Given the description of an element on the screen output the (x, y) to click on. 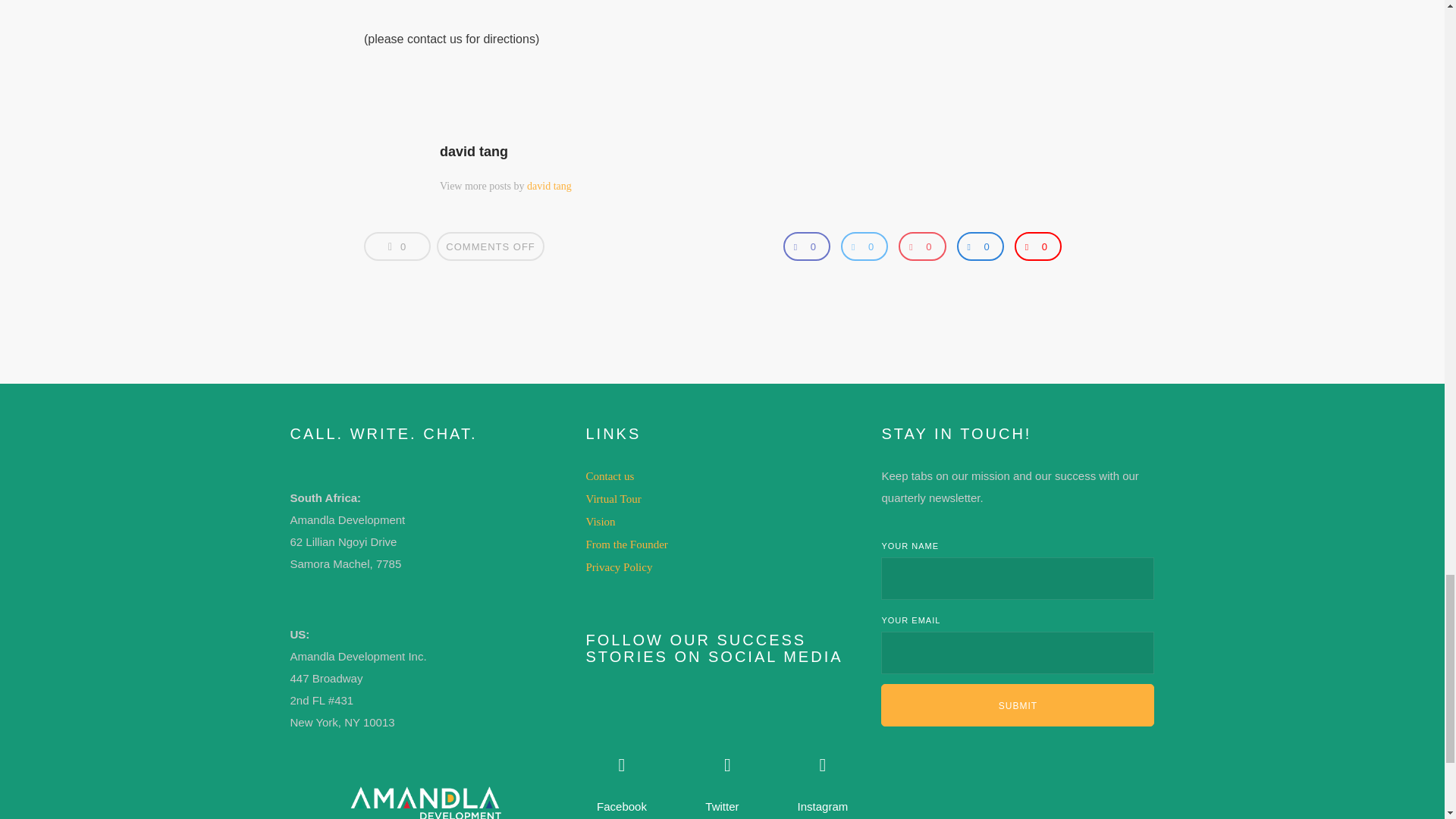
david tang (473, 151)
0 (864, 246)
Instagram (822, 750)
david tang (549, 185)
0 (806, 246)
Posts by david tang (473, 151)
Love this (397, 246)
Posts by david tang (549, 185)
0 (980, 246)
0 (921, 246)
Submit (1017, 704)
0 (397, 246)
Facebook (621, 750)
Twitter (726, 750)
